Given the description of an element on the screen output the (x, y) to click on. 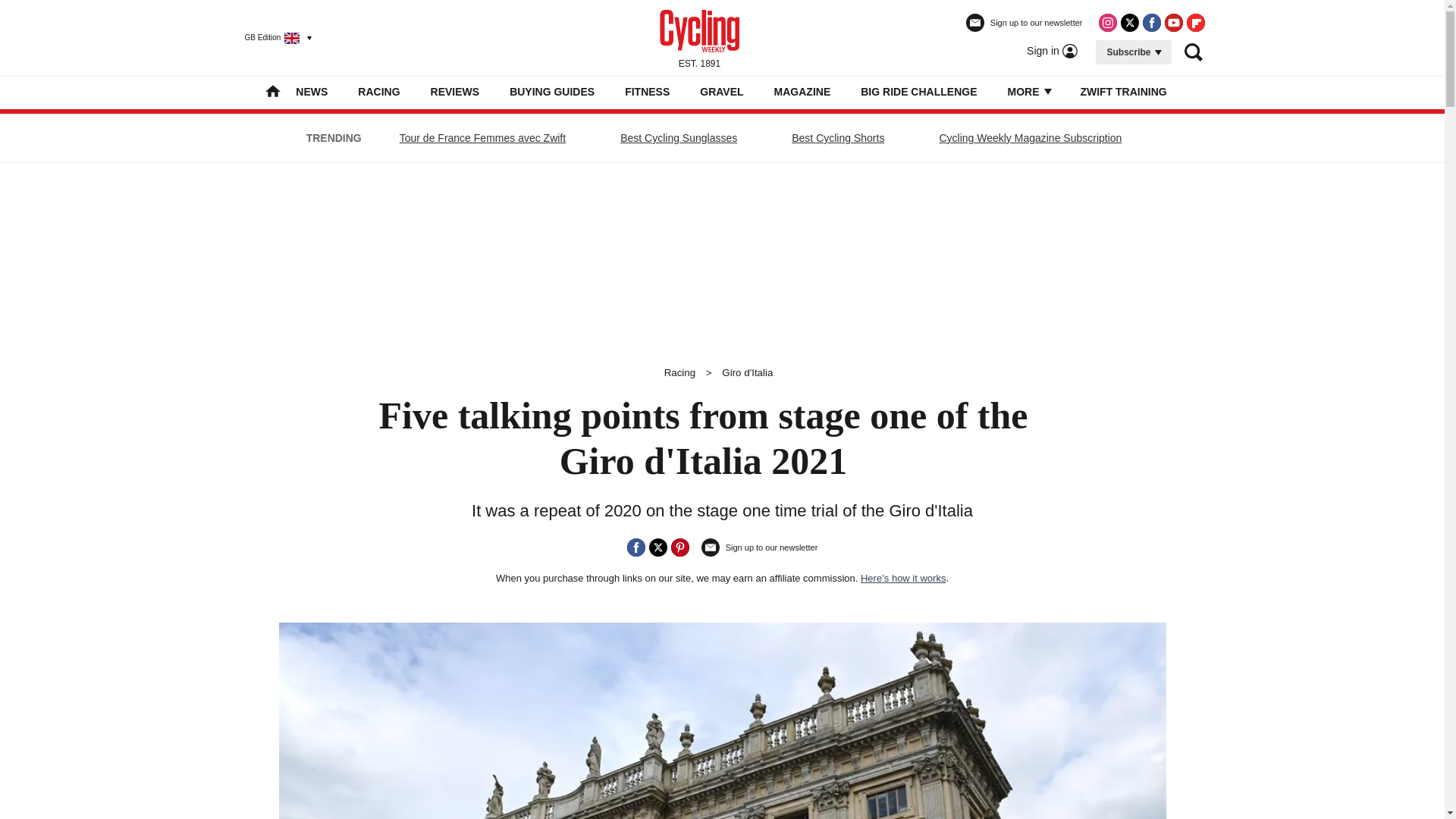
Racing (679, 372)
RACING (378, 91)
BIG RIDE CHALLENGE (918, 91)
FITNESS (646, 91)
Best Cycling Shorts (837, 137)
MAGAZINE (802, 91)
Cycling Weekly Magazine Subscription (1029, 137)
Giro d'Italia (747, 372)
BUYING GUIDES (551, 91)
REVIEWS (455, 91)
